Given the description of an element on the screen output the (x, y) to click on. 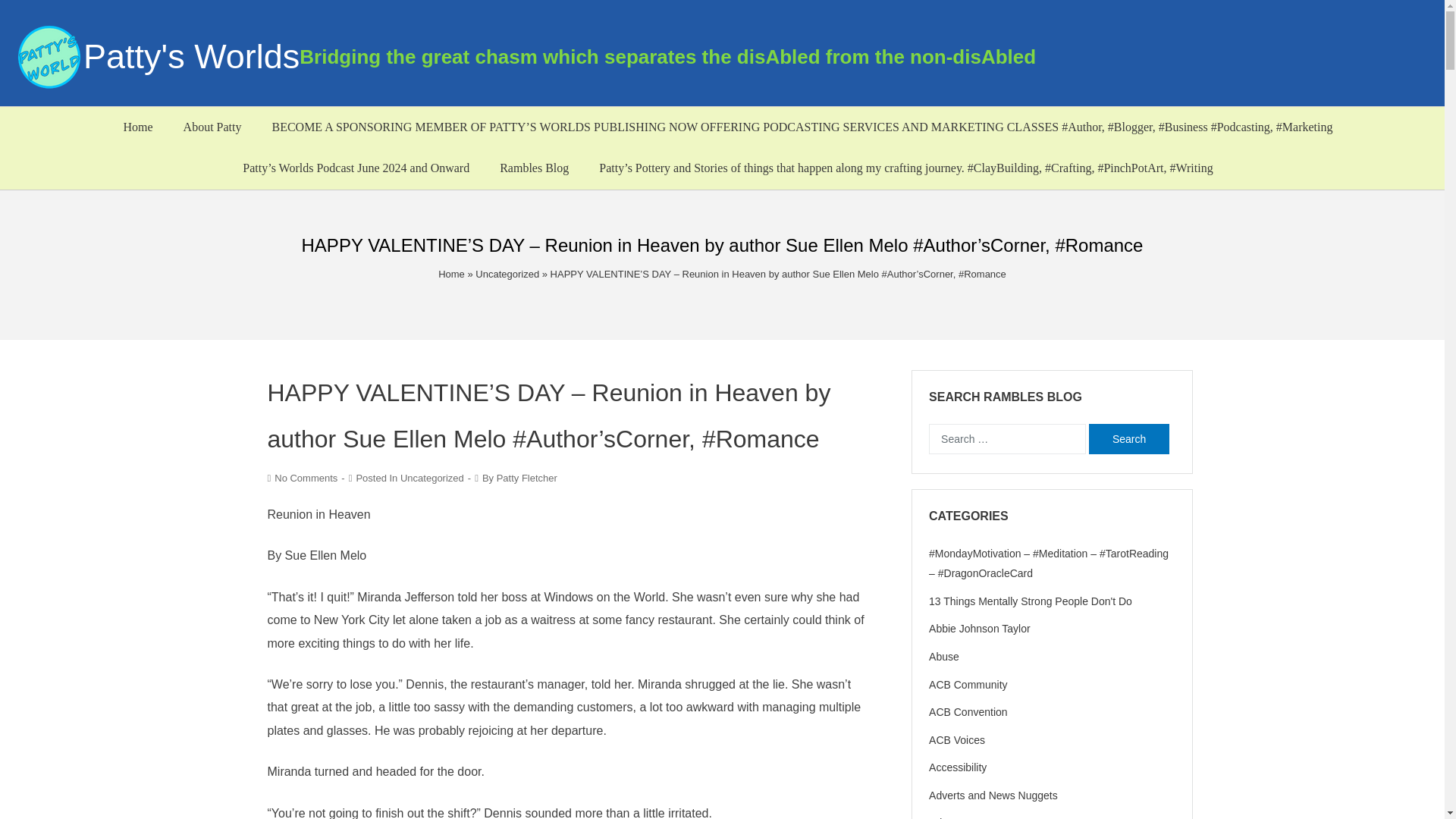
Home (451, 274)
Search (1129, 439)
No Comments (306, 478)
13 Things Mentally Strong People Don't Do (1030, 601)
Patty's Worlds (190, 56)
Patty Fletcher (526, 478)
Home (137, 127)
Abbie Johnson Taylor (979, 628)
About Patty (212, 127)
Uncategorized (432, 478)
